Given the description of an element on the screen output the (x, y) to click on. 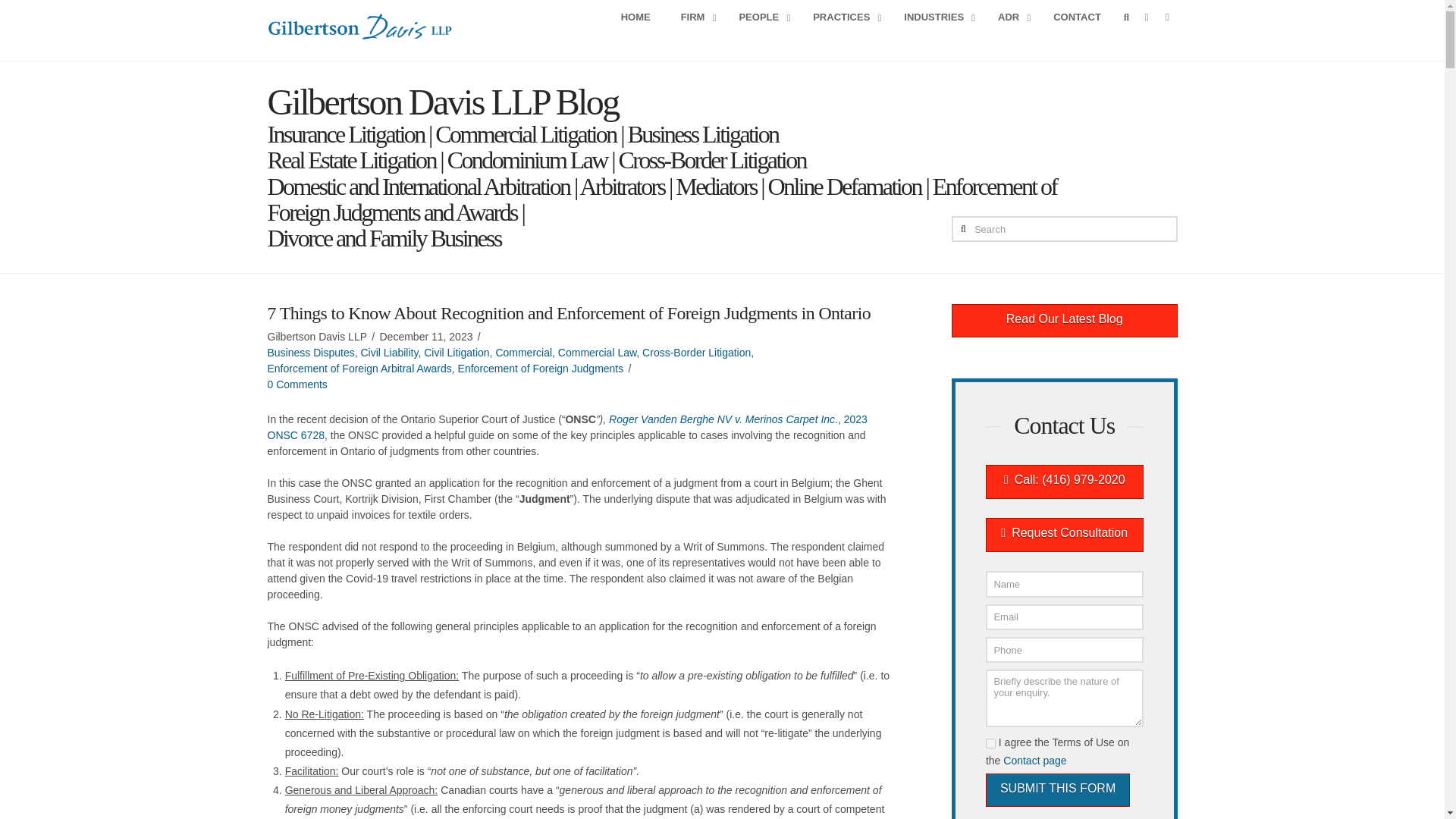
1 (990, 743)
SUBMIT THIS FORM (1057, 790)
Example (1063, 481)
Example (1064, 320)
HOME (635, 18)
Example (1063, 534)
